Given the description of an element on the screen output the (x, y) to click on. 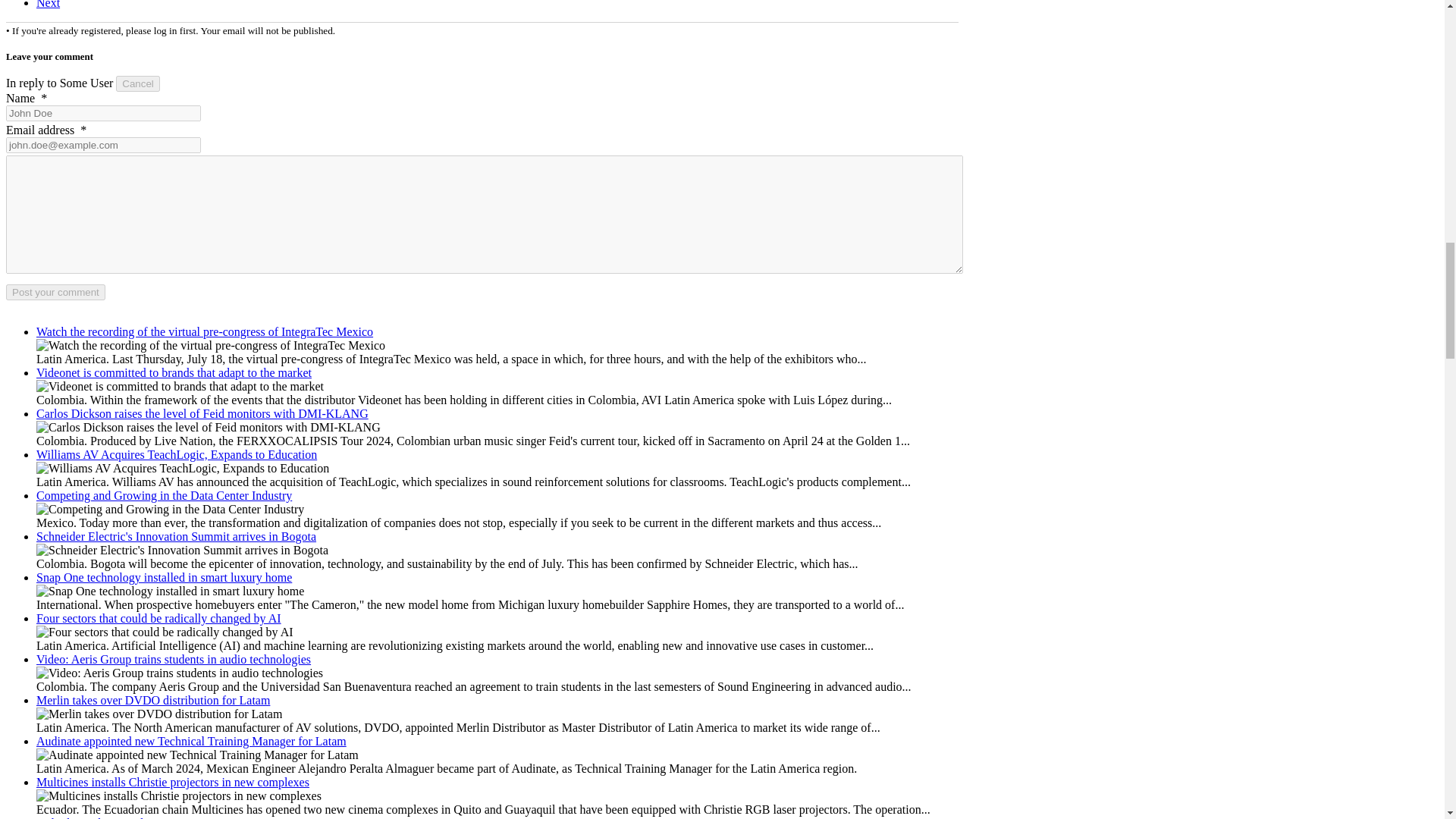
3DLED Audiovisuals strengthens its presence in Mexico (47, 4)
